Given the description of an element on the screen output the (x, y) to click on. 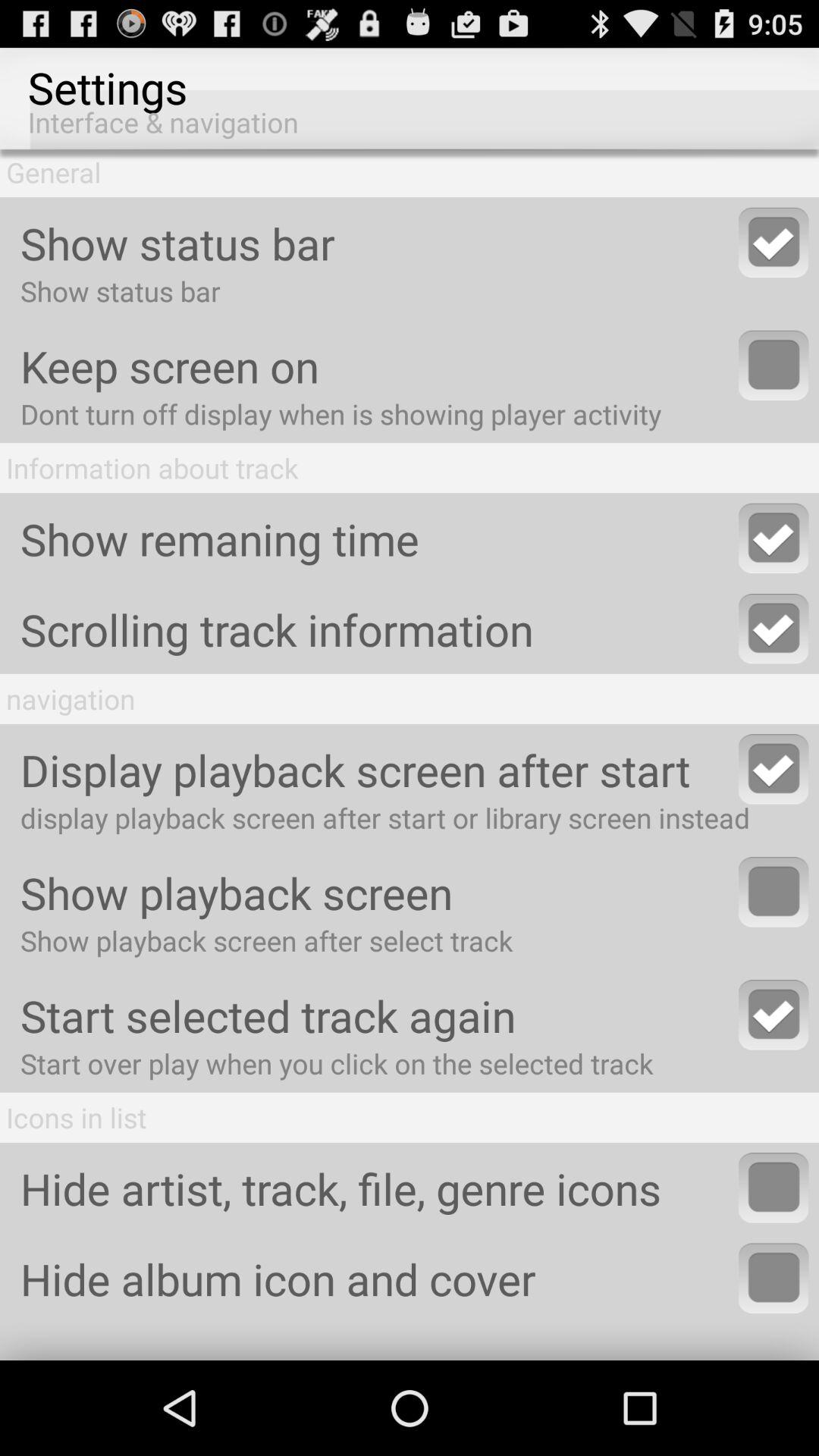
toggle show playback screen (773, 892)
